Given the description of an element on the screen output the (x, y) to click on. 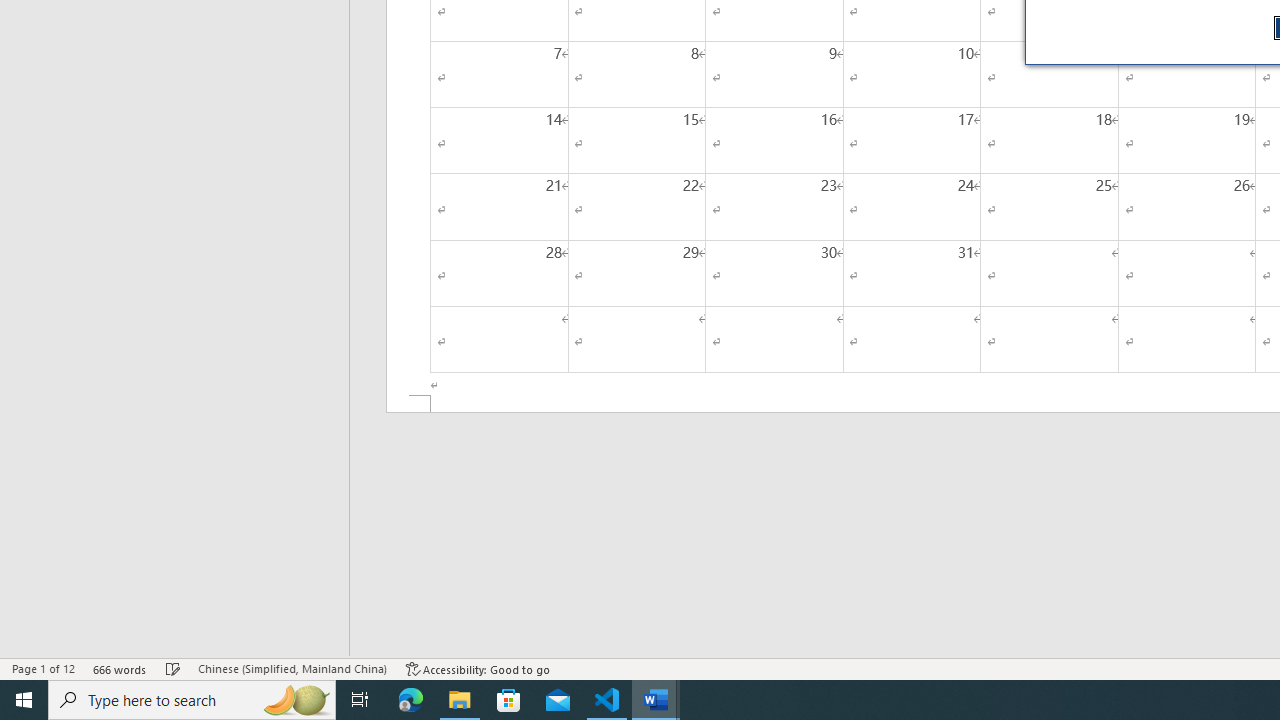
Accessibility Checker Accessibility: Good to go (478, 668)
File Explorer - 1 running window (460, 699)
Microsoft Edge (411, 699)
Spelling and Grammar Check Checking (173, 668)
Microsoft Store (509, 699)
Word Count 666 words (119, 668)
Visual Studio Code - 1 running window (607, 699)
Type here to search (191, 699)
Task View (359, 699)
Search highlights icon opens search home window (295, 699)
Language Chinese (Simplified, Mainland China) (292, 668)
Start (24, 699)
Page Number Page 1 of 12 (43, 668)
